Given the description of an element on the screen output the (x, y) to click on. 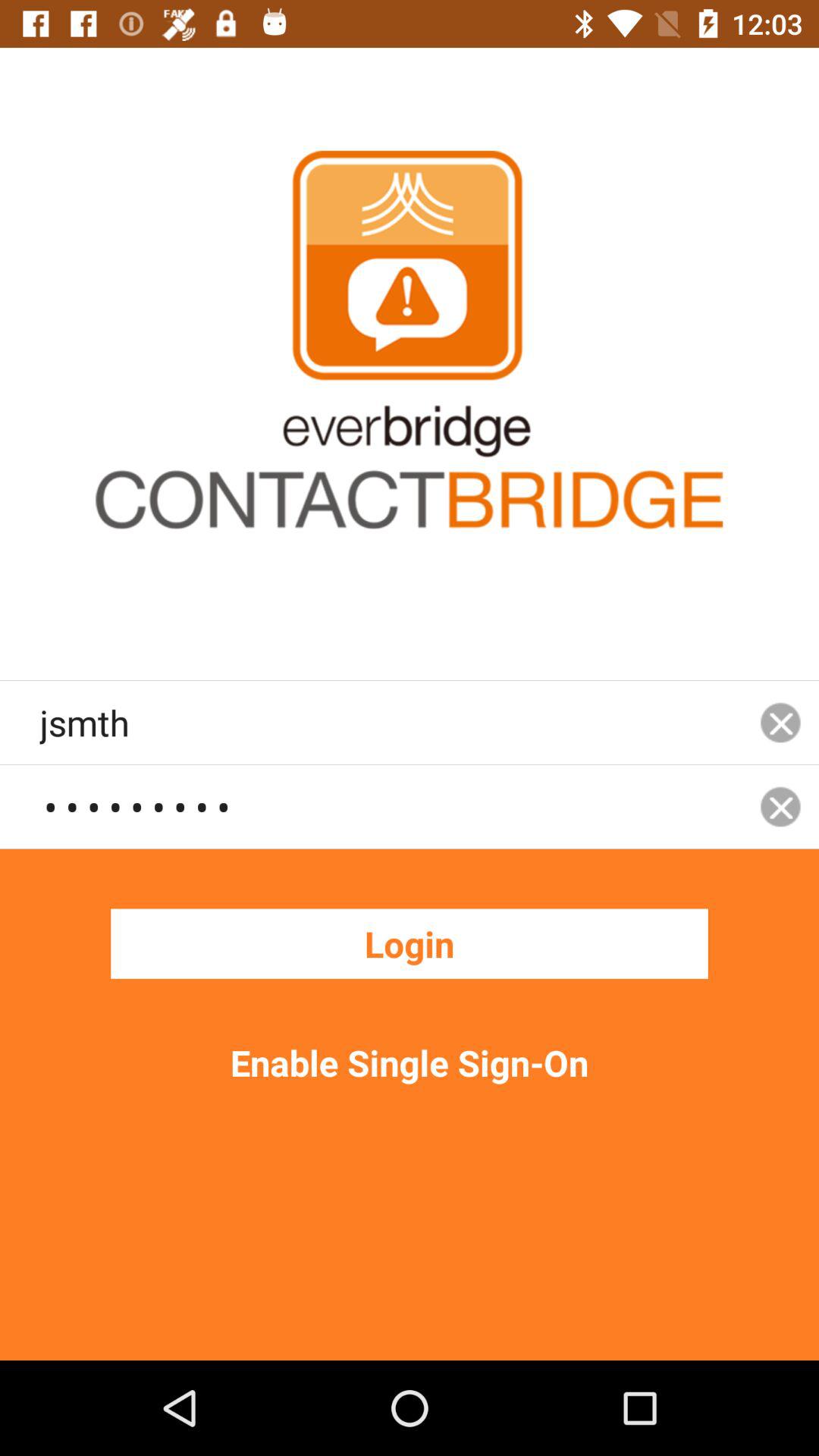
press the login item (409, 943)
